Given the description of an element on the screen output the (x, y) to click on. 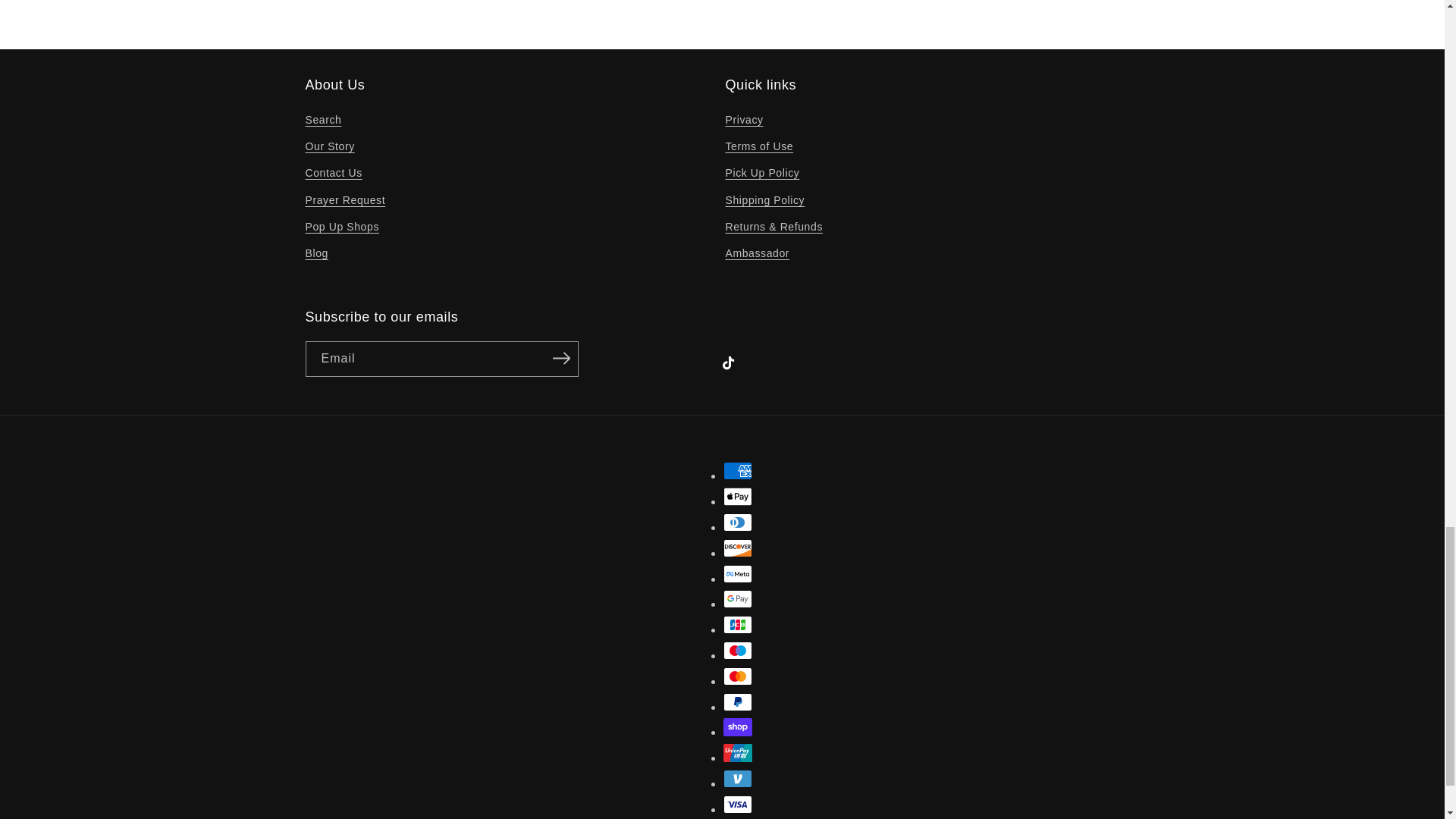
Diners Club (737, 522)
JCB (737, 624)
Meta Pay (737, 574)
Maestro (737, 650)
Google Pay (737, 598)
Discover (737, 547)
American Express (737, 470)
Apple Pay (737, 496)
